Given the description of an element on the screen output the (x, y) to click on. 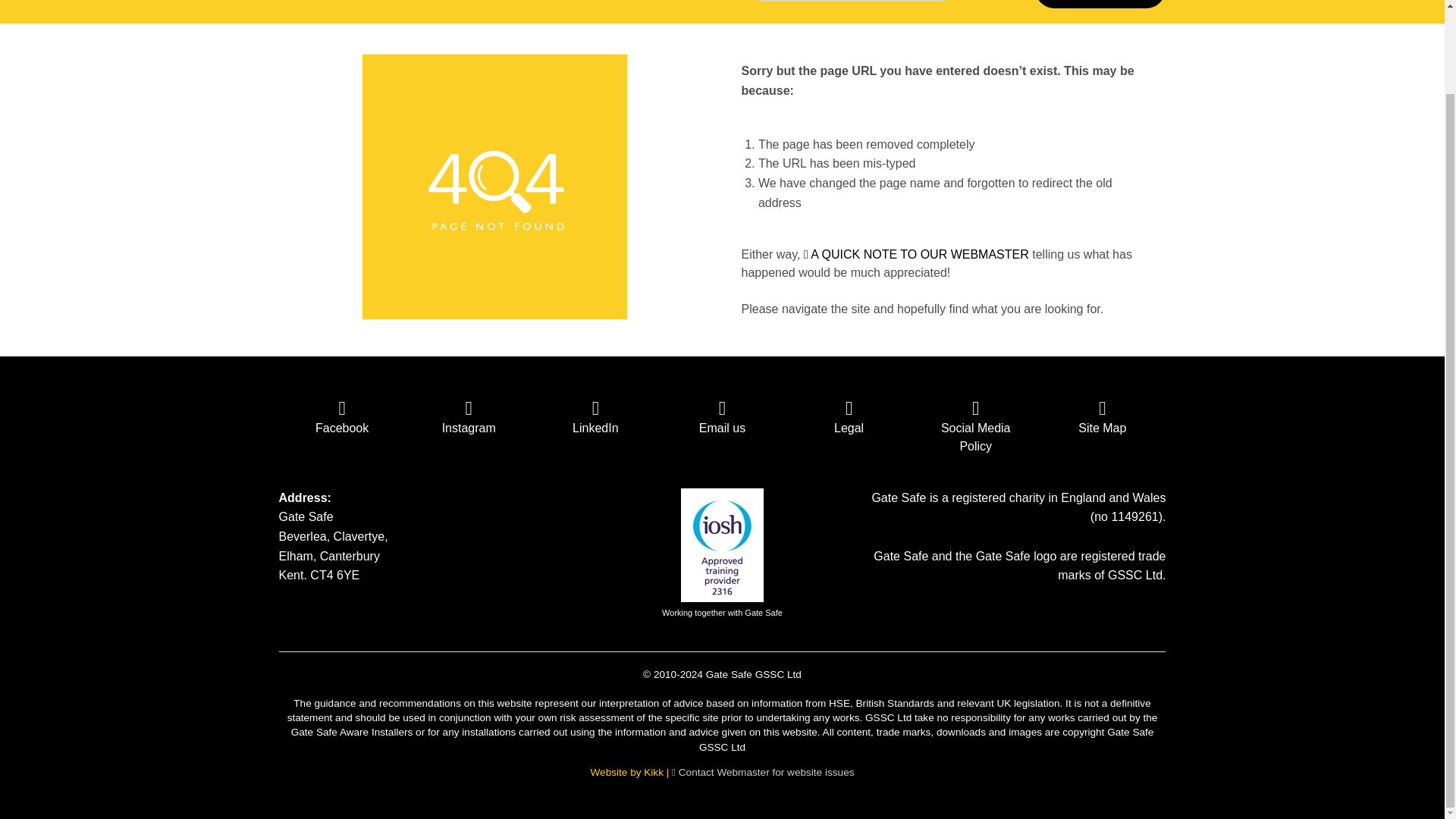
Postcode Search (393, 11)
Videos (558, 39)
Facebook (342, 417)
Rob's Safety Tips (558, 107)
Property Management (235, 278)
Blog (558, 11)
Gate Installers (235, 11)
Book Training (1100, 4)
A QUICK NOTE TO OUR WEBMASTER (916, 254)
Industry Professionals (235, 107)
